Given the description of an element on the screen output the (x, y) to click on. 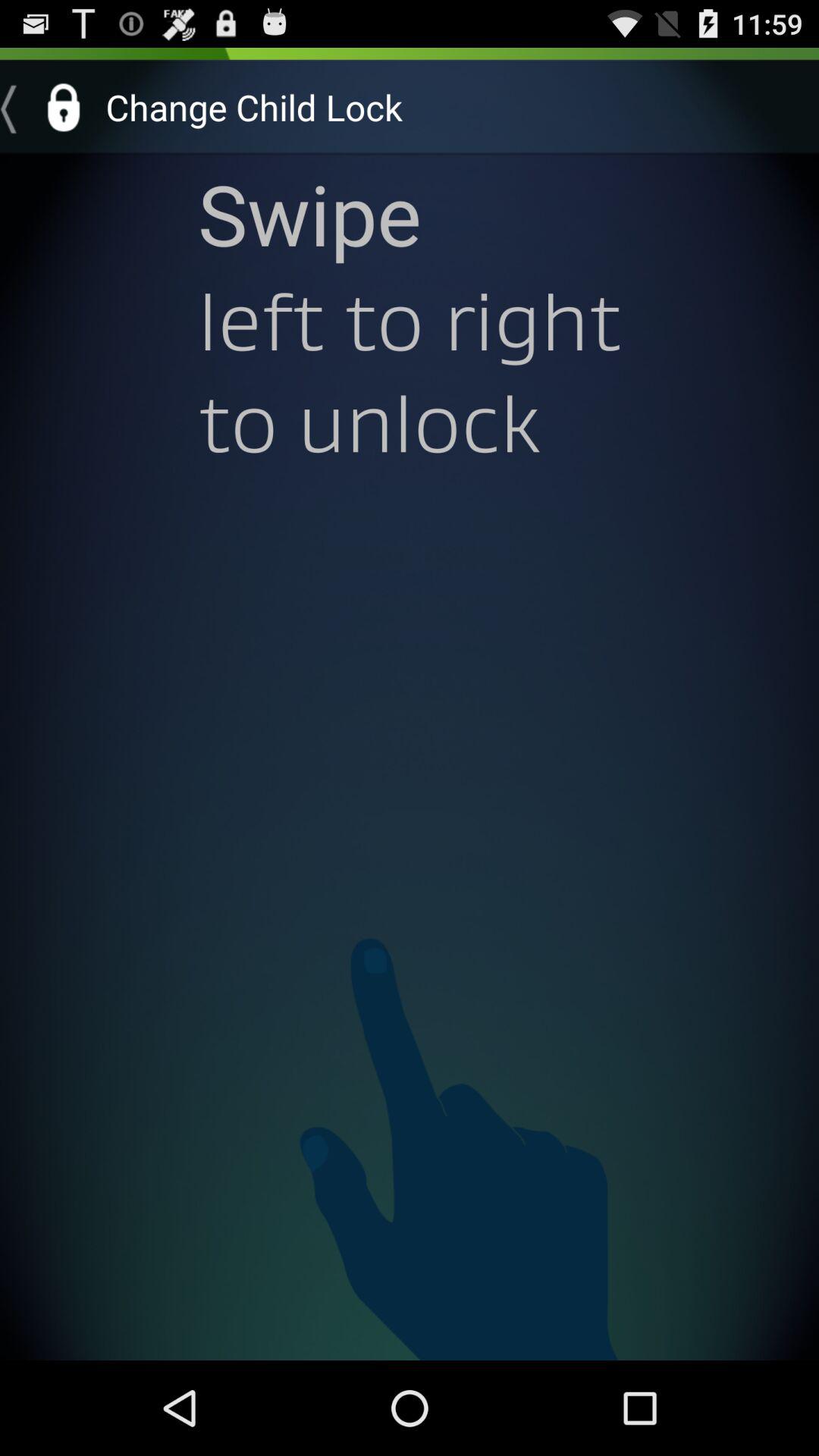
open the icon next to the change child lock item (47, 107)
